Given the description of an element on the screen output the (x, y) to click on. 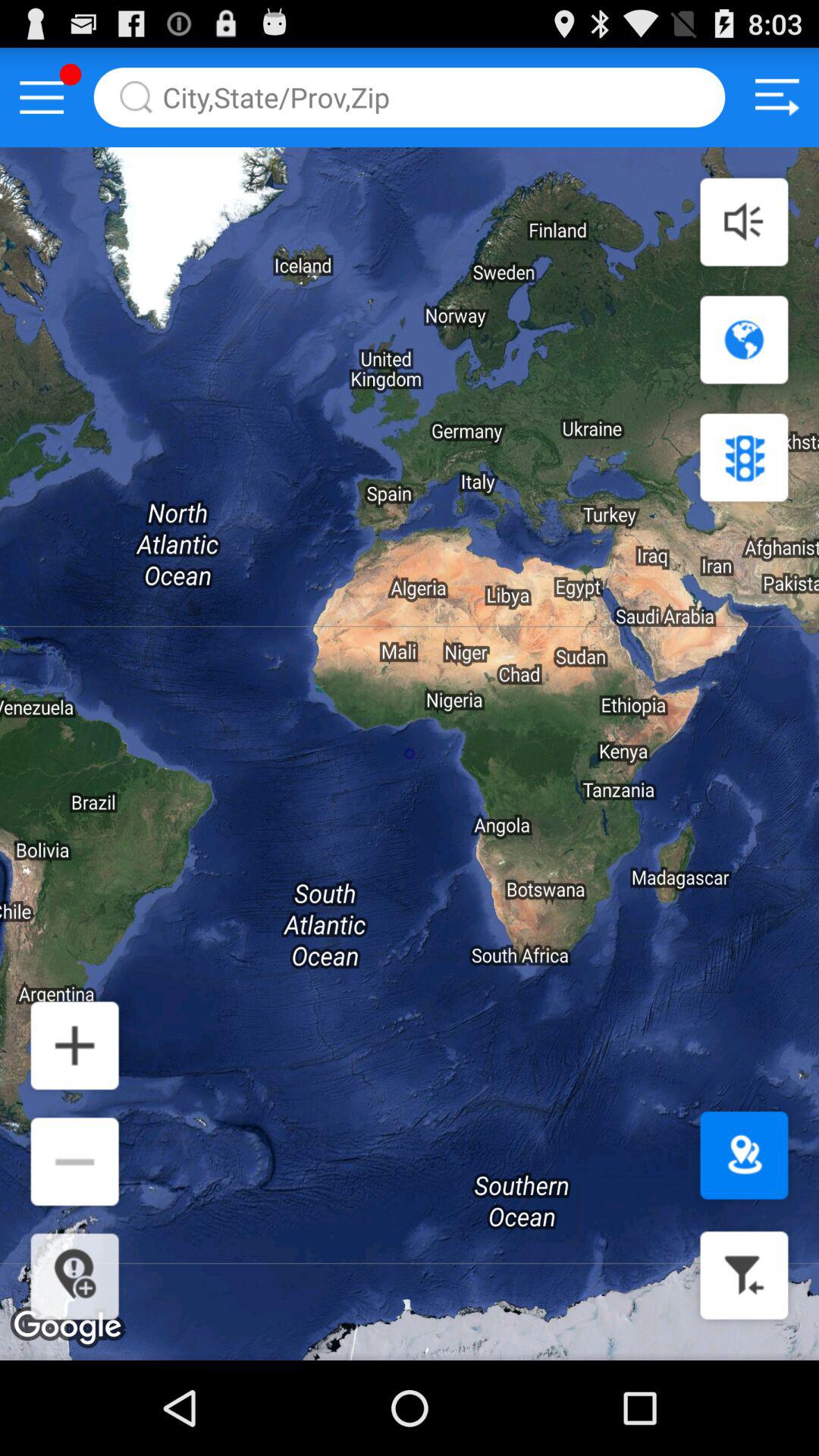
zoom out (74, 1161)
